Given the description of an element on the screen output the (x, y) to click on. 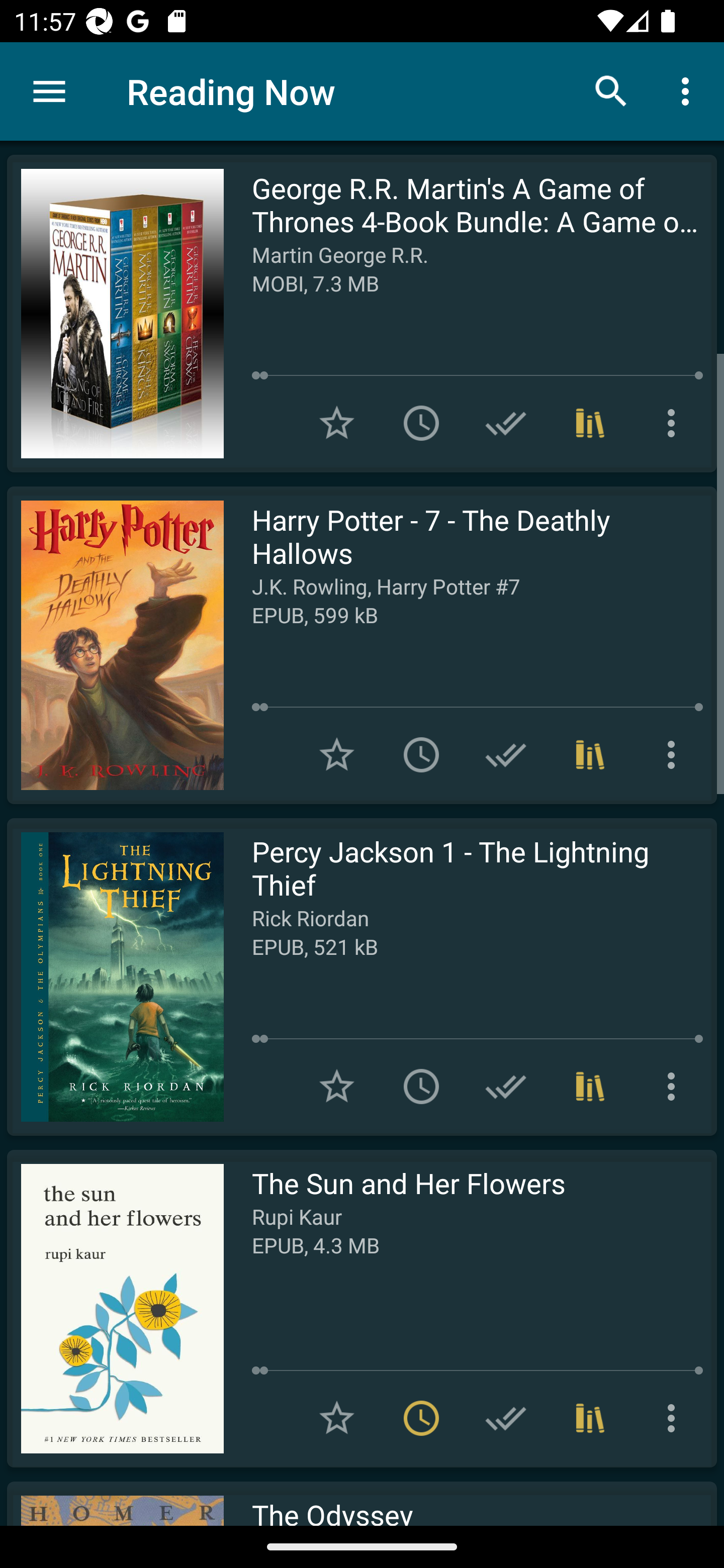
Menu (49, 91)
Search books & documents (611, 90)
More options (688, 90)
Add to Favorites (336, 423)
Add to To read (421, 423)
Add to Have read (505, 423)
Collections (1) (590, 423)
More options (674, 423)
Read Harry Potter - 7 - The Deathly Hallows (115, 645)
Add to Favorites (336, 753)
Add to To read (421, 753)
Add to Have read (505, 753)
Collections (1) (590, 753)
More options (674, 753)
Read Percy Jackson 1 - The Lightning Thief (115, 976)
Add to Favorites (336, 1086)
Add to To read (421, 1086)
Add to Have read (505, 1086)
Collections (1) (590, 1086)
More options (674, 1086)
Read The Sun and Her Flowers (115, 1308)
Add to Favorites (336, 1417)
Remove from To read (421, 1417)
Add to Have read (505, 1417)
Collections (1) (590, 1417)
More options (674, 1417)
